Given the description of an element on the screen output the (x, y) to click on. 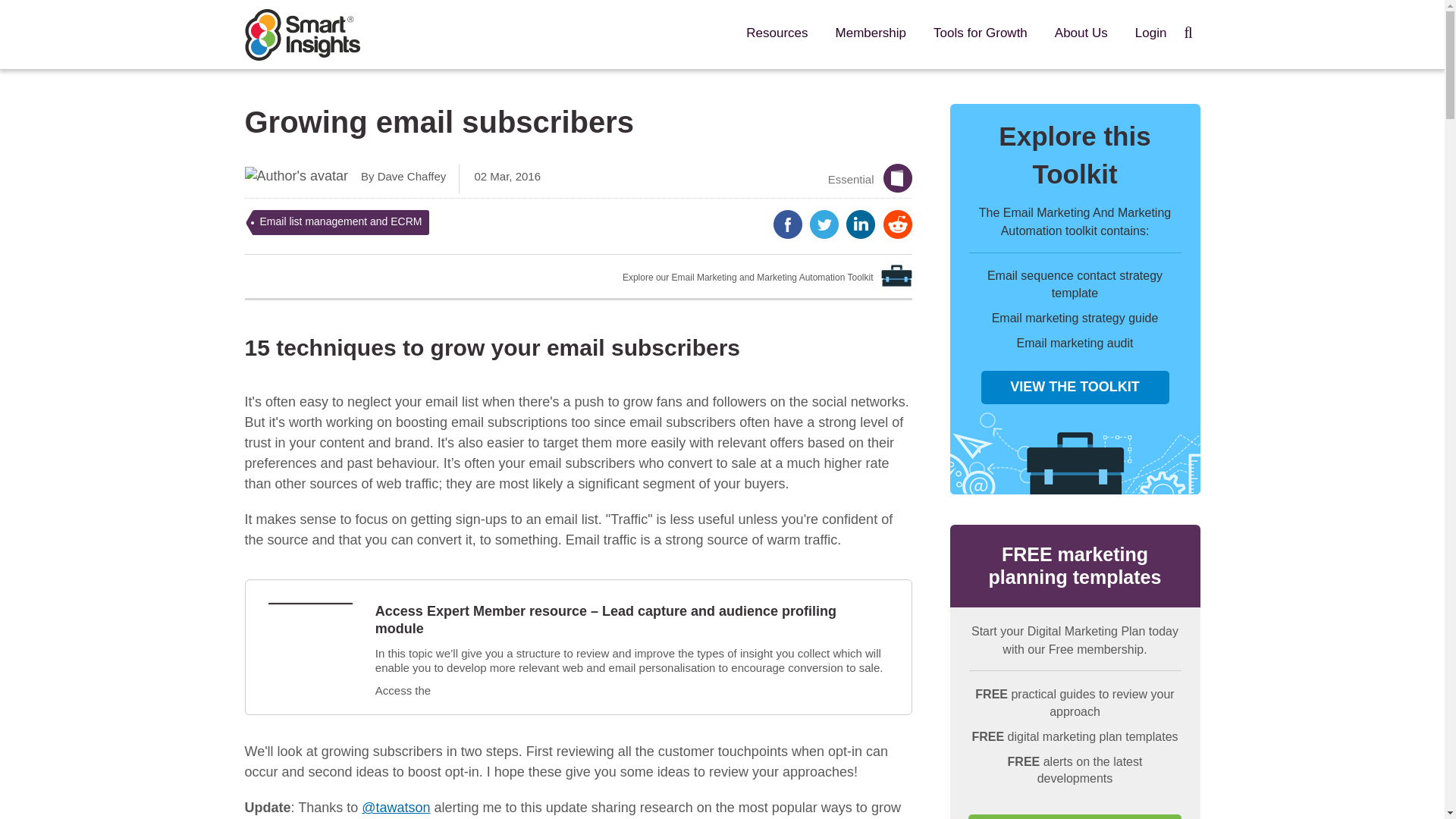
Tools for Growth (979, 32)
Resources (776, 32)
Membership (871, 32)
Login (1150, 32)
About Us (1081, 32)
